Given the description of an element on the screen output the (x, y) to click on. 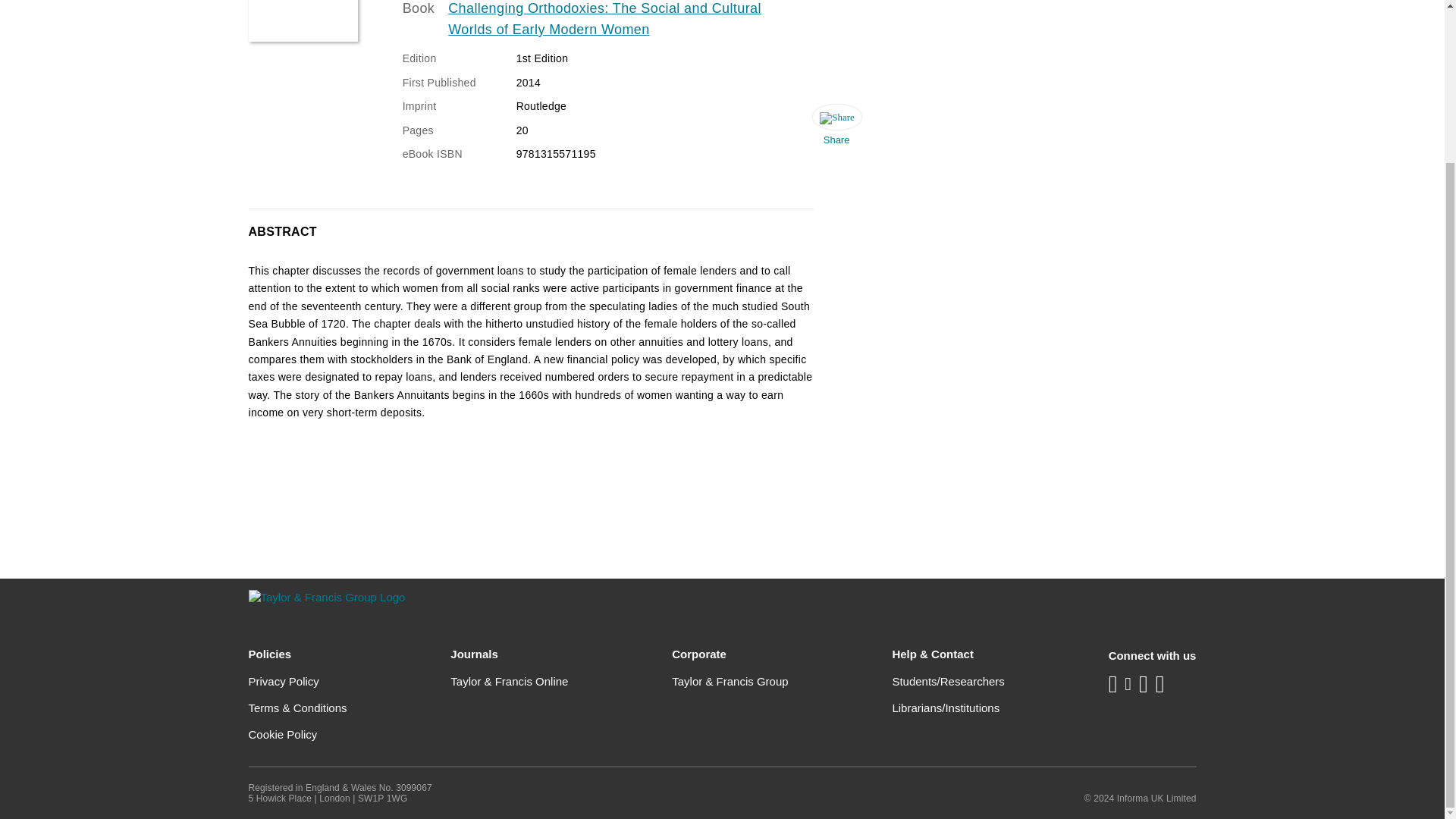
Cookie Policy (282, 734)
Share (836, 128)
Women and Guns in Early Modern London (303, 20)
Privacy Policy (283, 681)
